Given the description of an element on the screen output the (x, y) to click on. 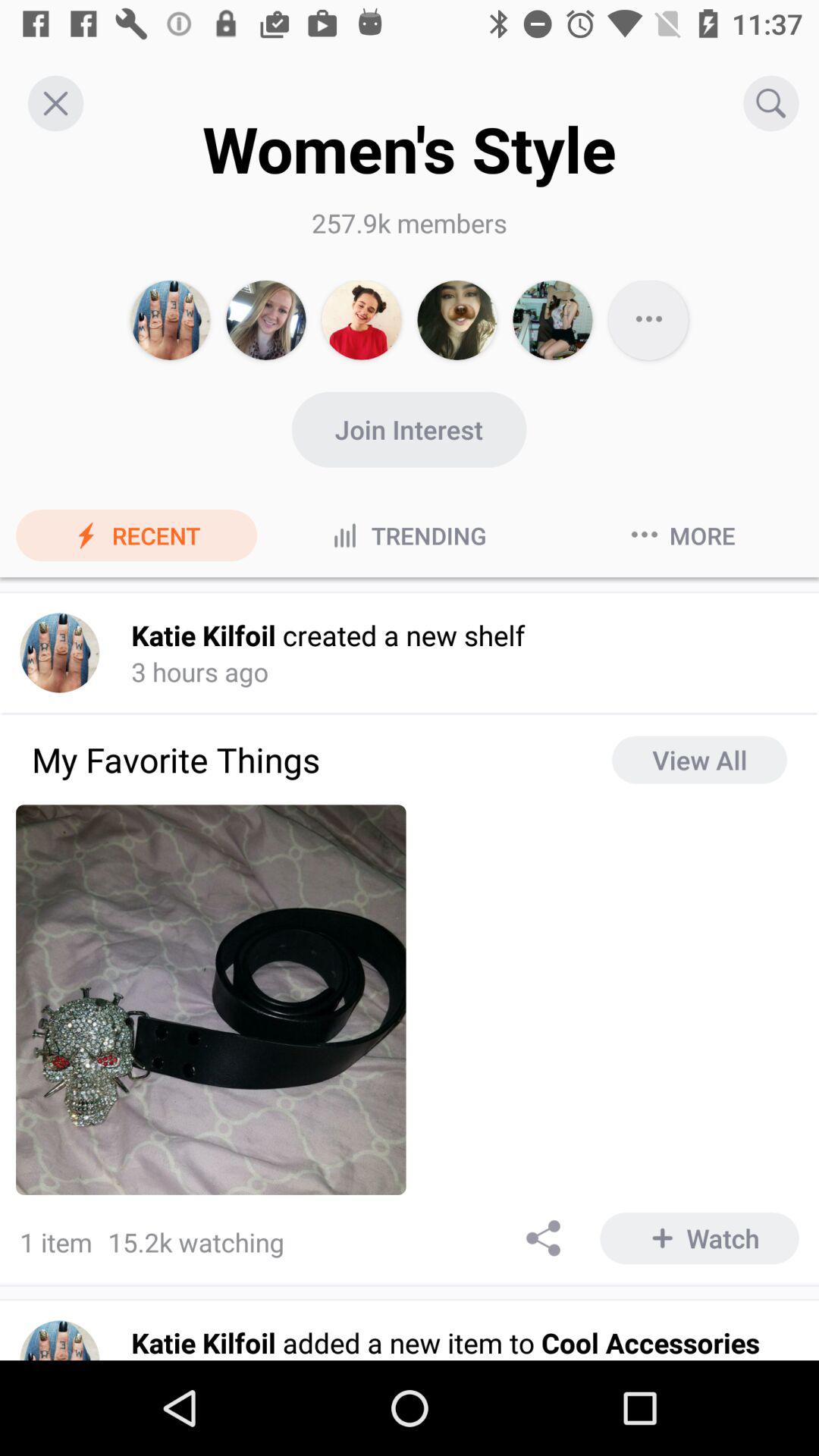
click to share (544, 1238)
